Given the description of an element on the screen output the (x, y) to click on. 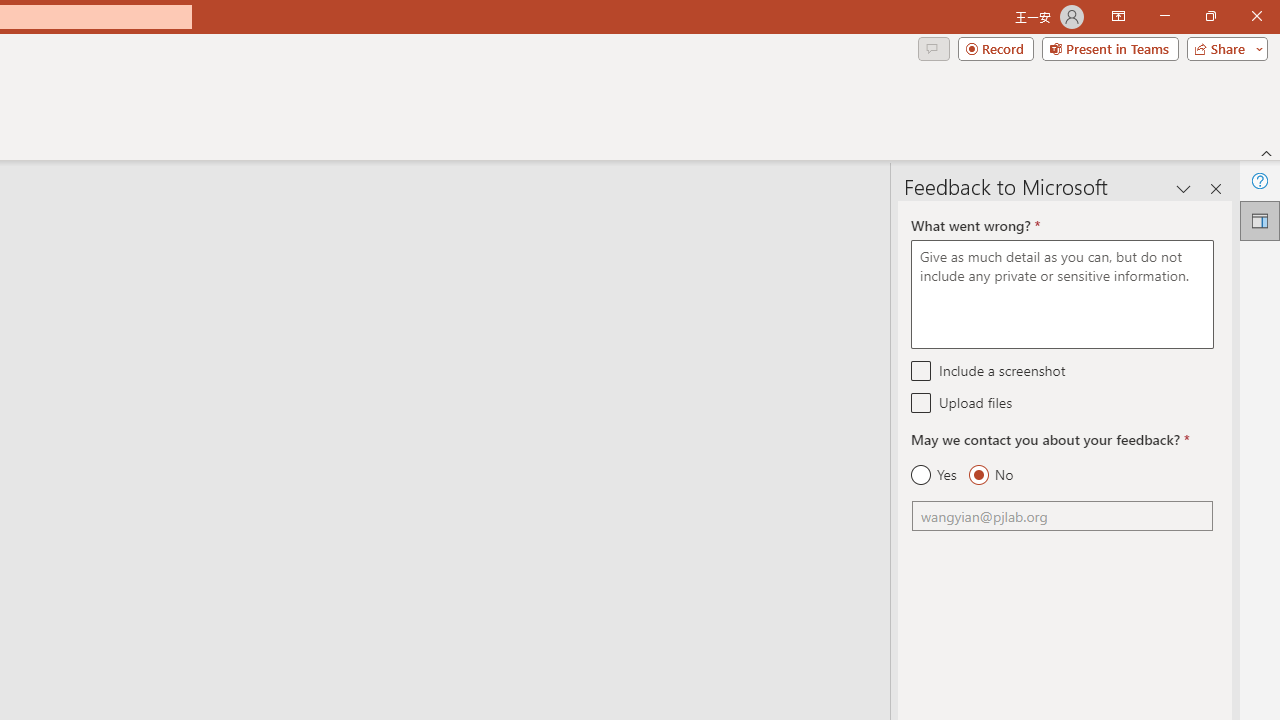
Email (1062, 516)
Yes (934, 475)
What went wrong? * (1062, 294)
Feedback to Microsoft (1260, 220)
Upload files (921, 402)
Include a screenshot (921, 370)
